Given the description of an element on the screen output the (x, y) to click on. 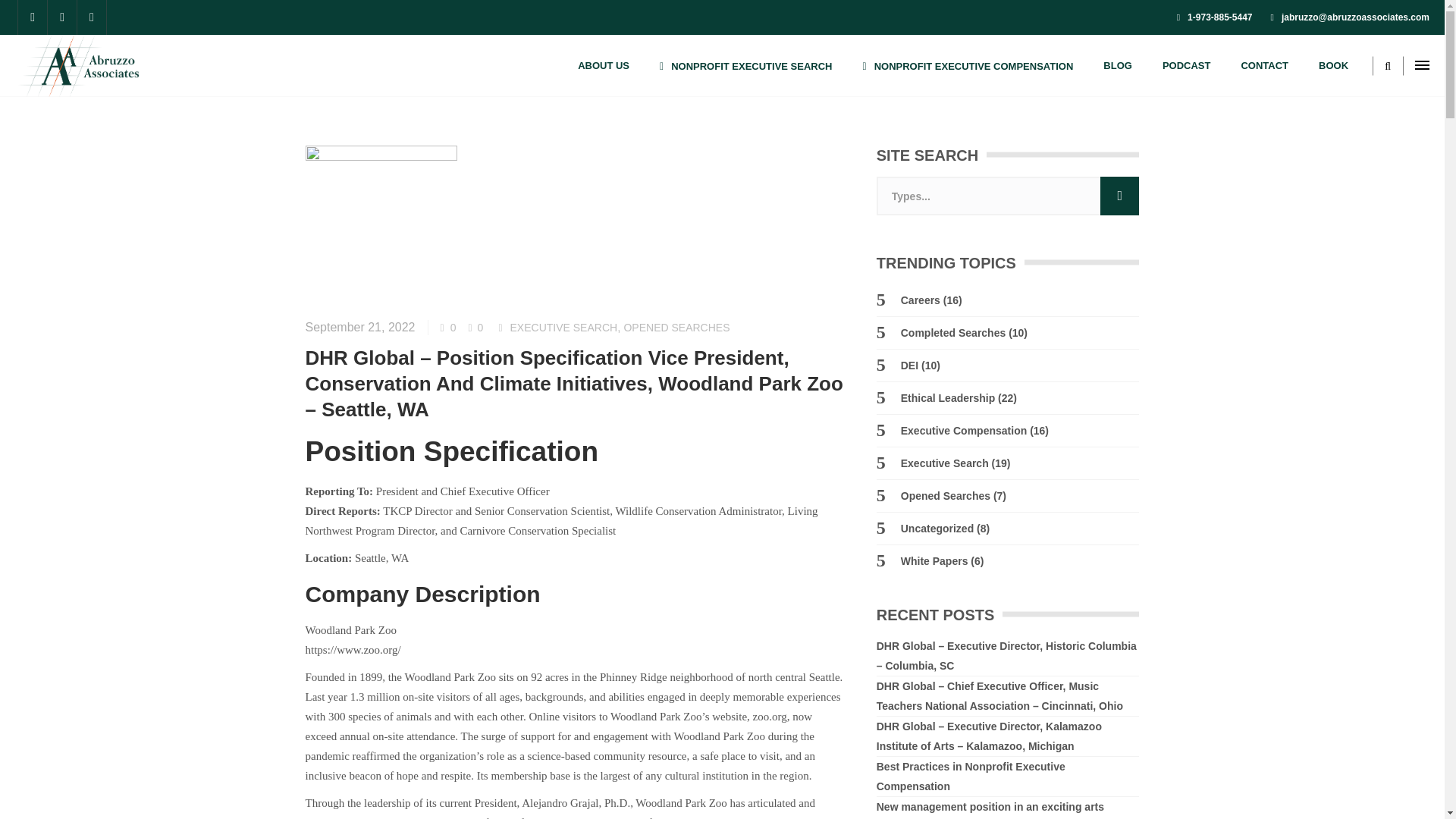
  1-973-885-5447 (1214, 17)
Like this (447, 327)
BLOG (1117, 65)
ABOUT US (603, 65)
NONPROFIT EXECUTIVE SEARCH (746, 65)
NONPROFIT EXECUTIVE COMPENSATION (968, 65)
